Given the description of an element on the screen output the (x, y) to click on. 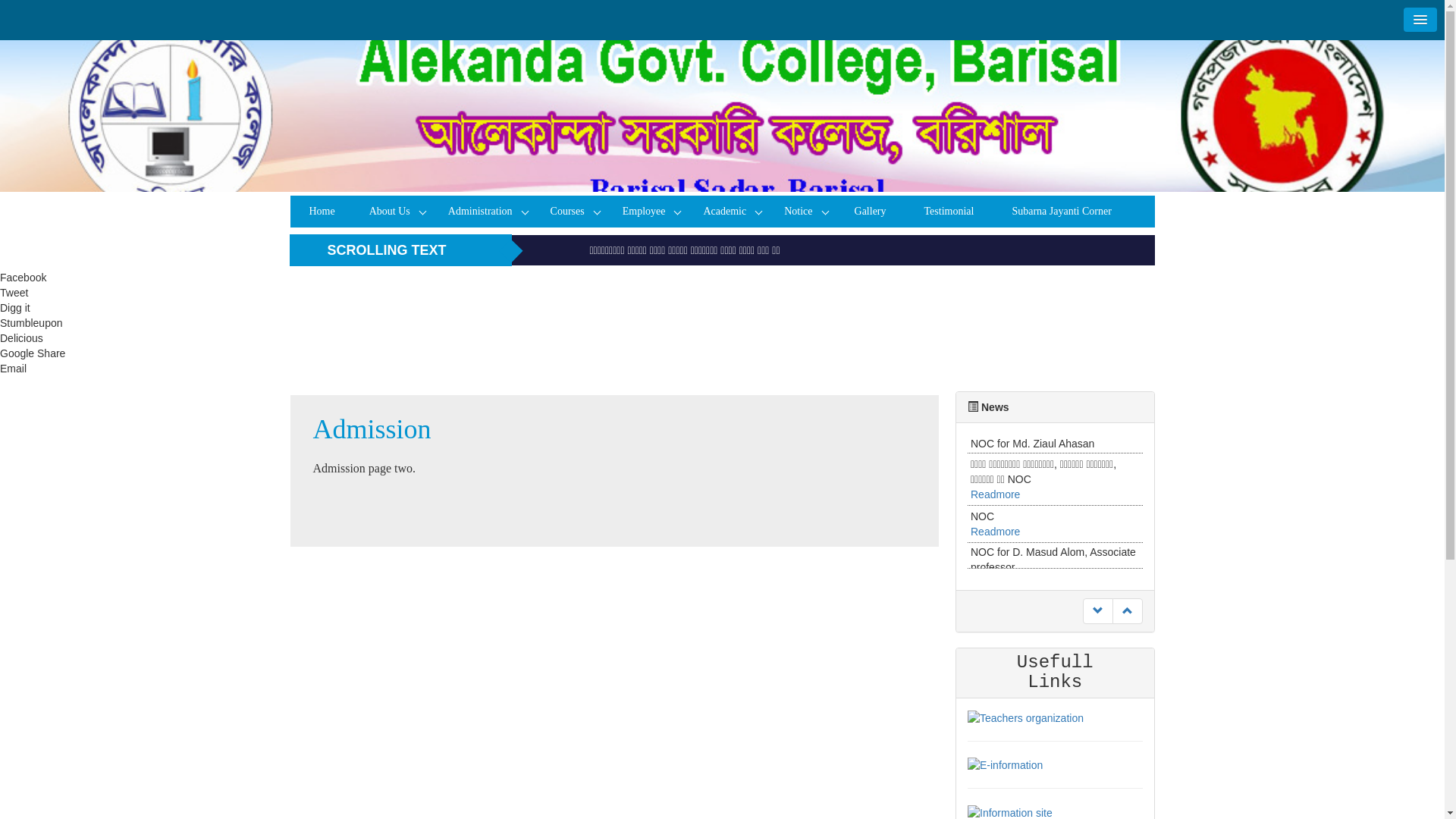
Administration Element type: text (484, 211)
Notice Element type: text (801, 211)
Readmore Element type: text (994, 460)
Testimonial Element type: text (949, 211)
Courses Element type: text (571, 211)
Employee Element type: text (647, 211)
Subarna Jayanti Corner Element type: text (1060, 211)
Academic Element type: text (727, 211)
Home Element type: text (321, 211)
Gallery Element type: text (870, 211)
About Us Element type: text (393, 211)
Readmore Element type: text (994, 549)
Readmore Element type: text (994, 512)
